Given the description of an element on the screen output the (x, y) to click on. 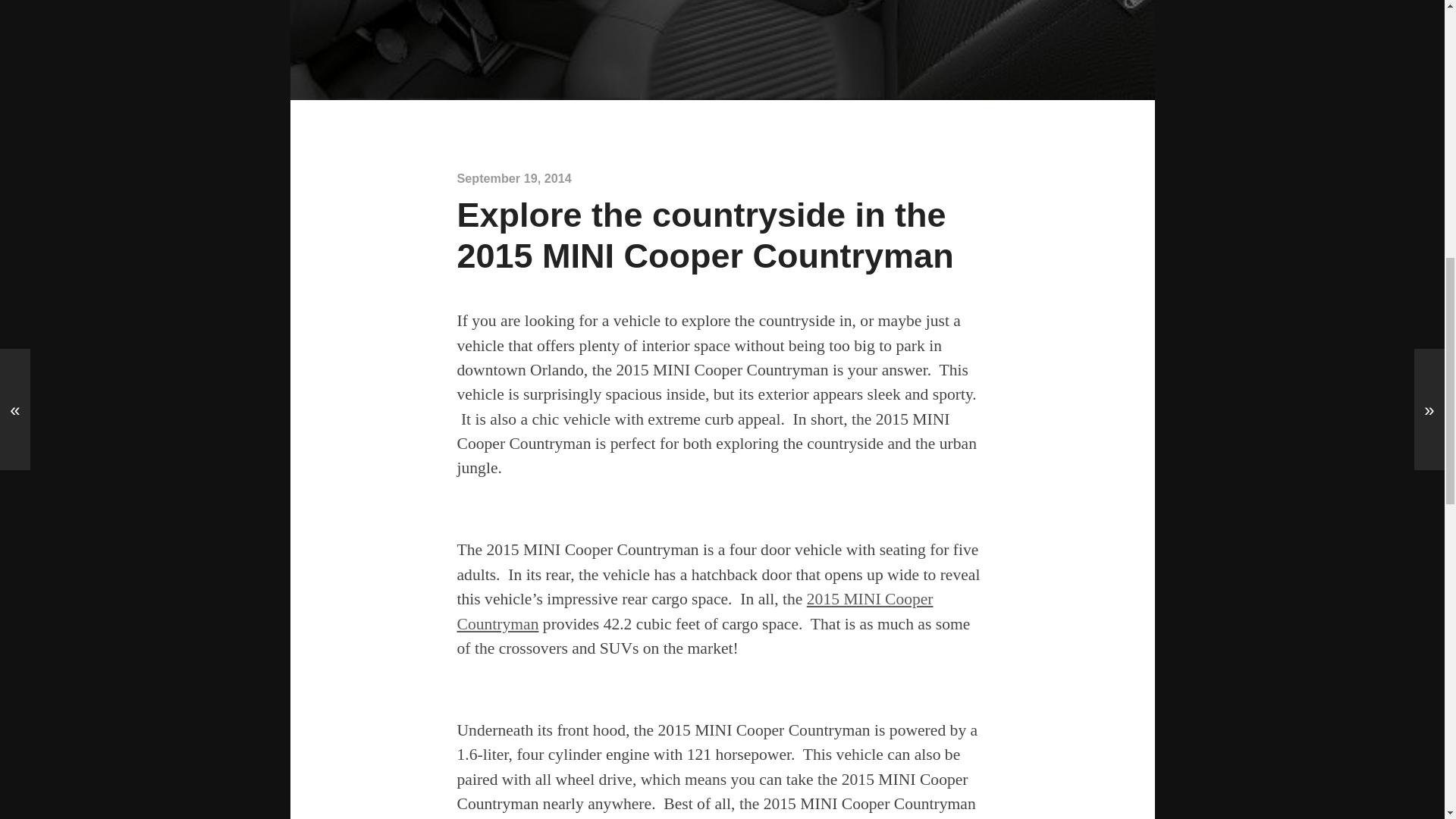
2015 MINI Cooper Countryman (695, 610)
